Given the description of an element on the screen output the (x, y) to click on. 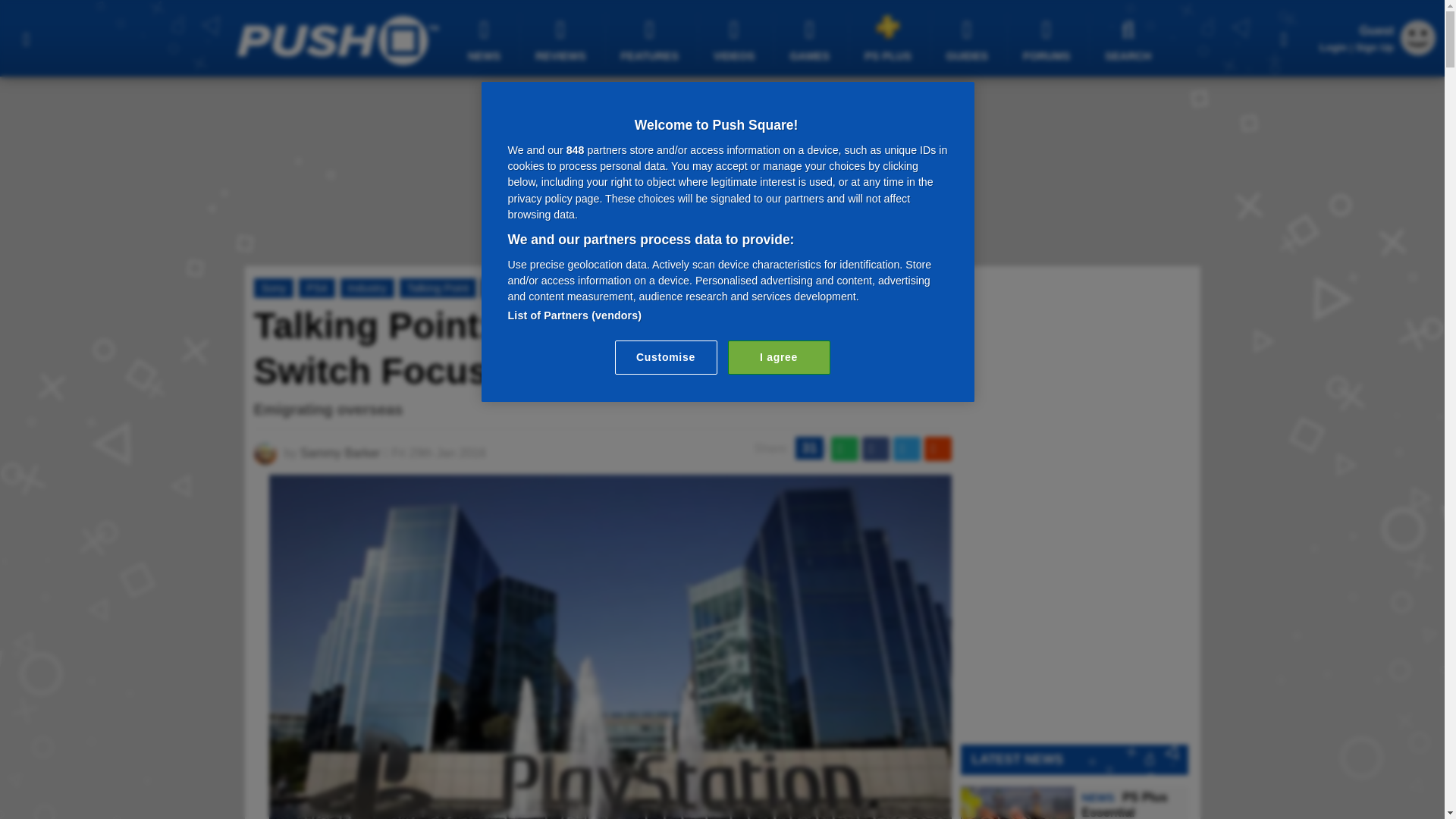
Menu (26, 37)
Push Square (336, 40)
FORUMS (1048, 39)
Guest (1417, 51)
SEARCH (1129, 39)
GAMES (811, 39)
GUIDES (969, 39)
REVIEWS (562, 39)
Push Square (336, 40)
Share This Page (1283, 37)
